Given the description of an element on the screen output the (x, y) to click on. 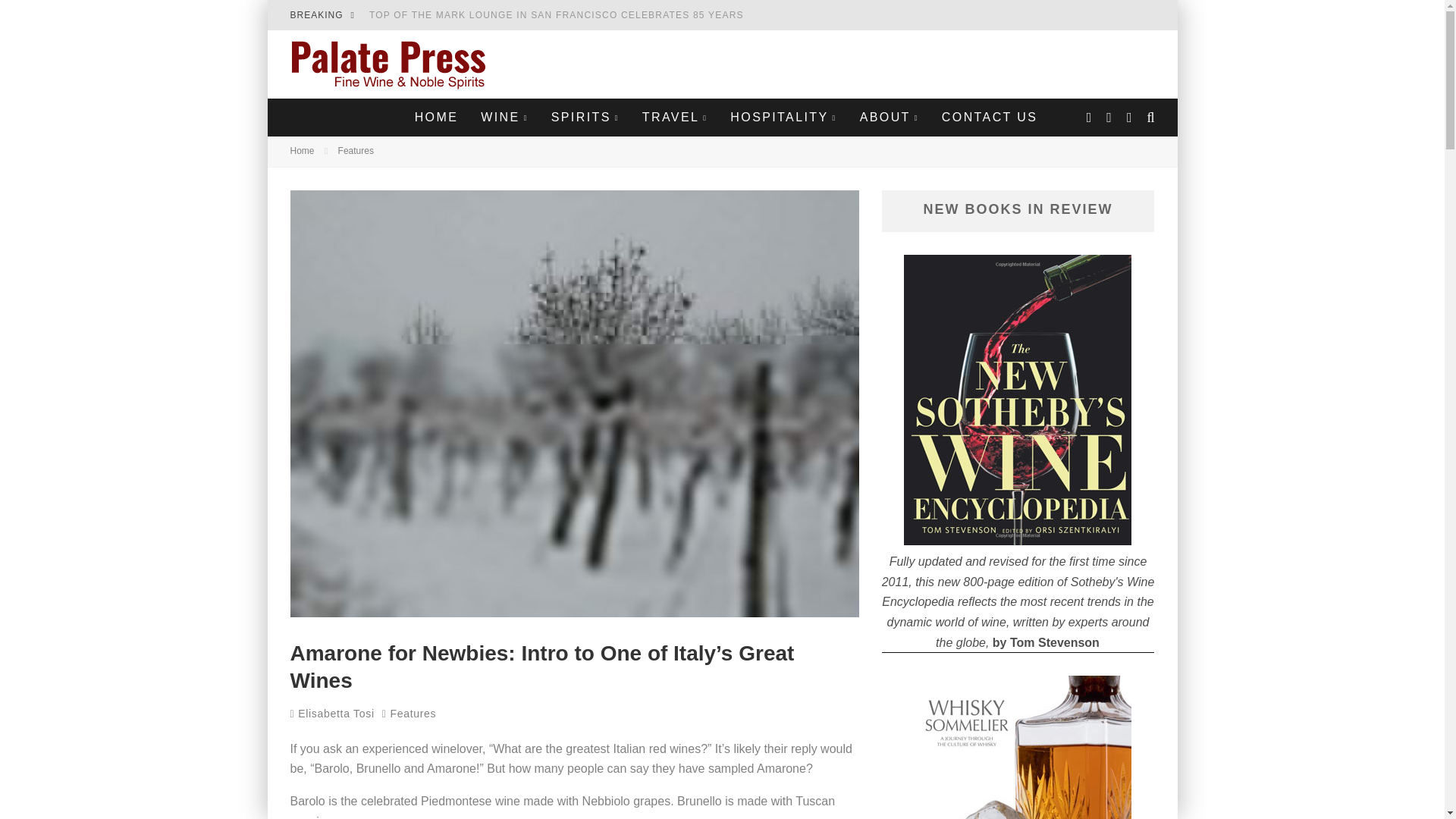
Top of the Mark Lounge in San Francisco Celebrates 85 years (556, 14)
SPIRITS (585, 117)
WINE (503, 117)
HOME (436, 117)
TOP OF THE MARK LOUNGE IN SAN FRANCISCO CELEBRATES 85 YEARS (556, 14)
